Given the description of an element on the screen output the (x, y) to click on. 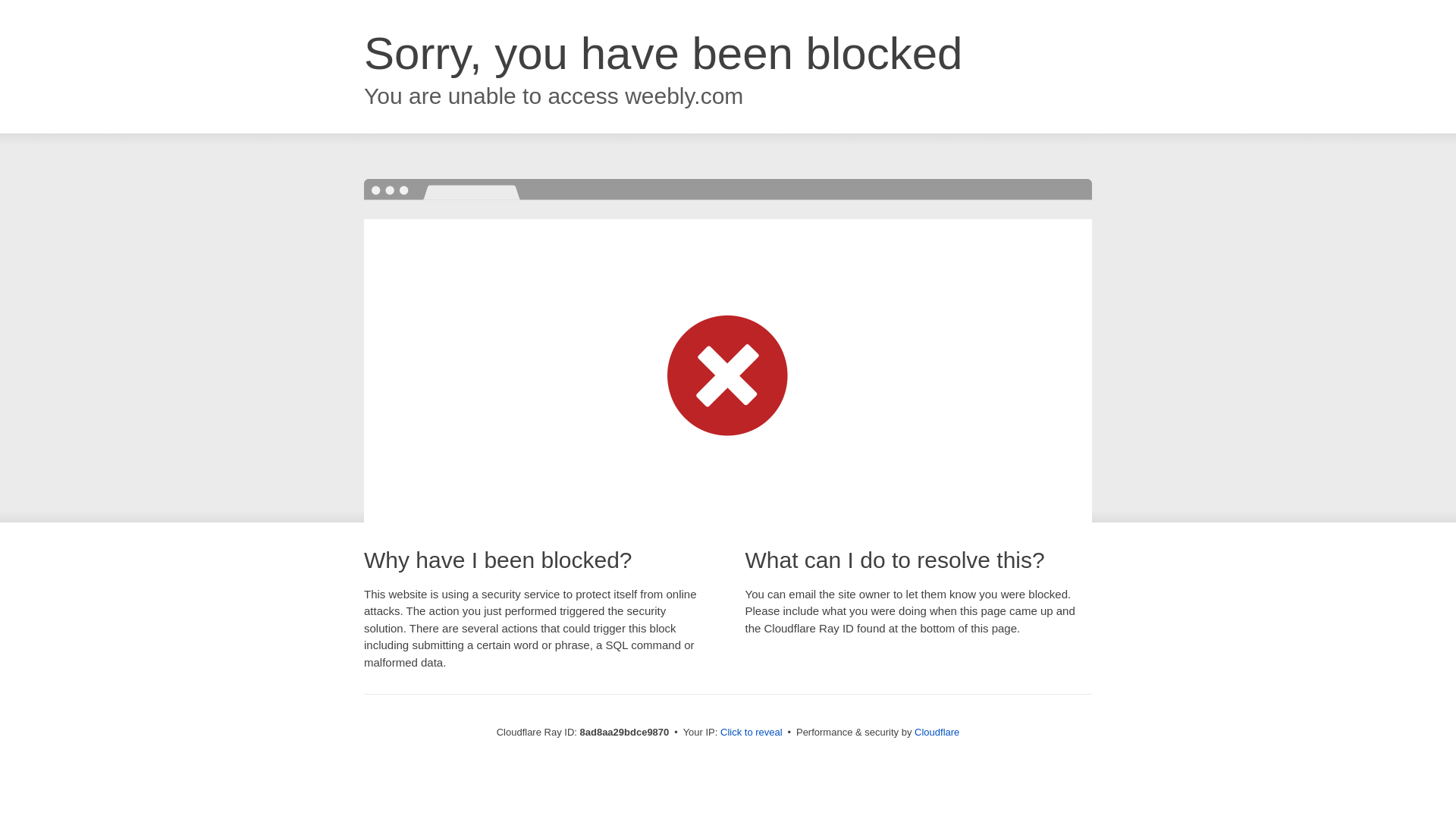
Click to reveal (751, 732)
Cloudflare (936, 731)
